Given the description of an element on the screen output the (x, y) to click on. 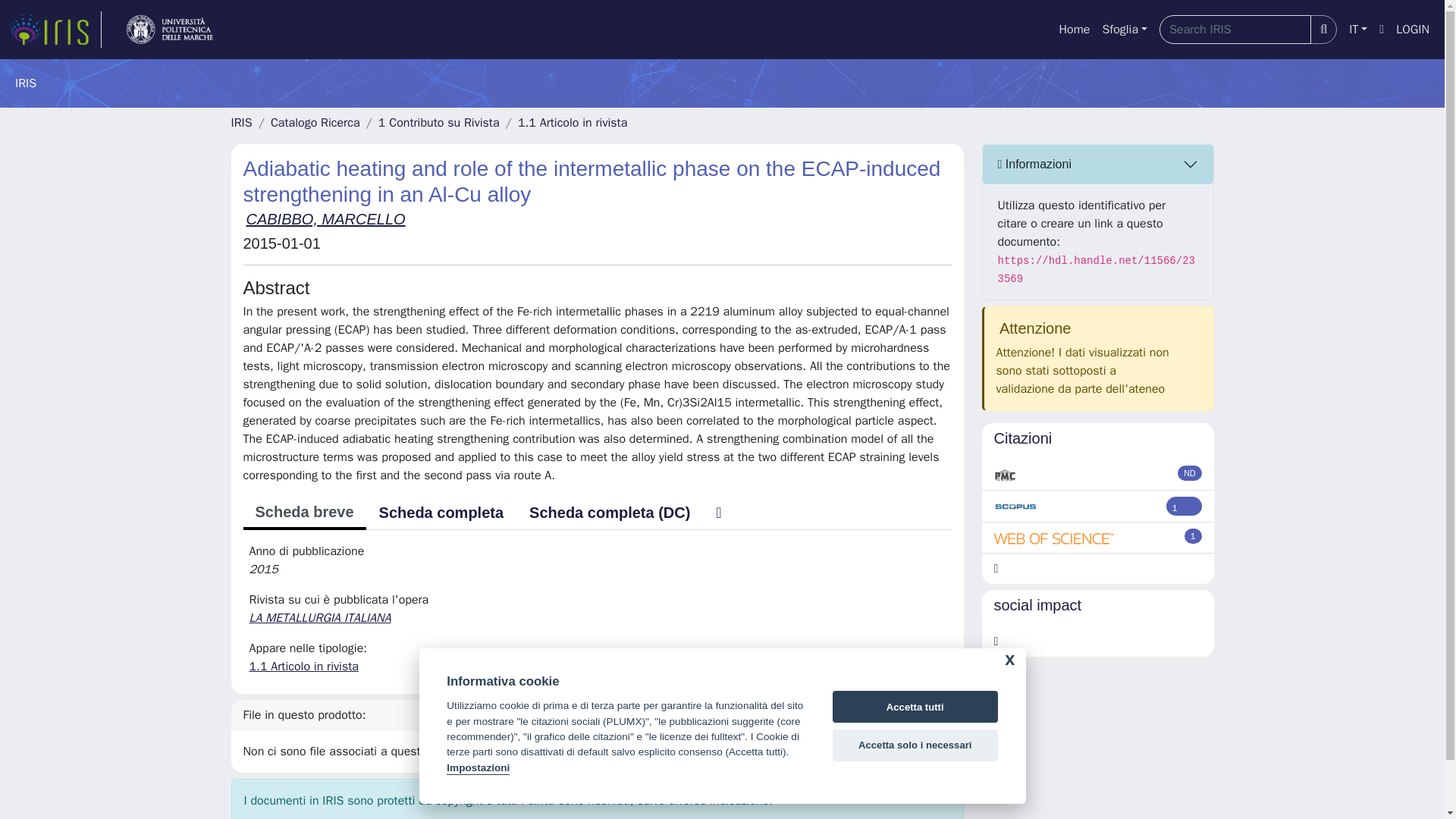
Home (1074, 29)
IT (1357, 29)
Scheda completa (441, 512)
Catalogo Ricerca (314, 122)
CABIBBO, MARCELLO (325, 218)
1 Contributo su Rivista (438, 122)
 Informazioni (1097, 164)
1.1 Articolo in rivista (572, 122)
Scheda breve (304, 512)
LOGIN (1412, 29)
1.1 Articolo in rivista (303, 666)
LA METALLURGIA ITALIANA (320, 617)
IRIS (240, 122)
Sfoglia (1124, 29)
